Given the description of an element on the screen output the (x, y) to click on. 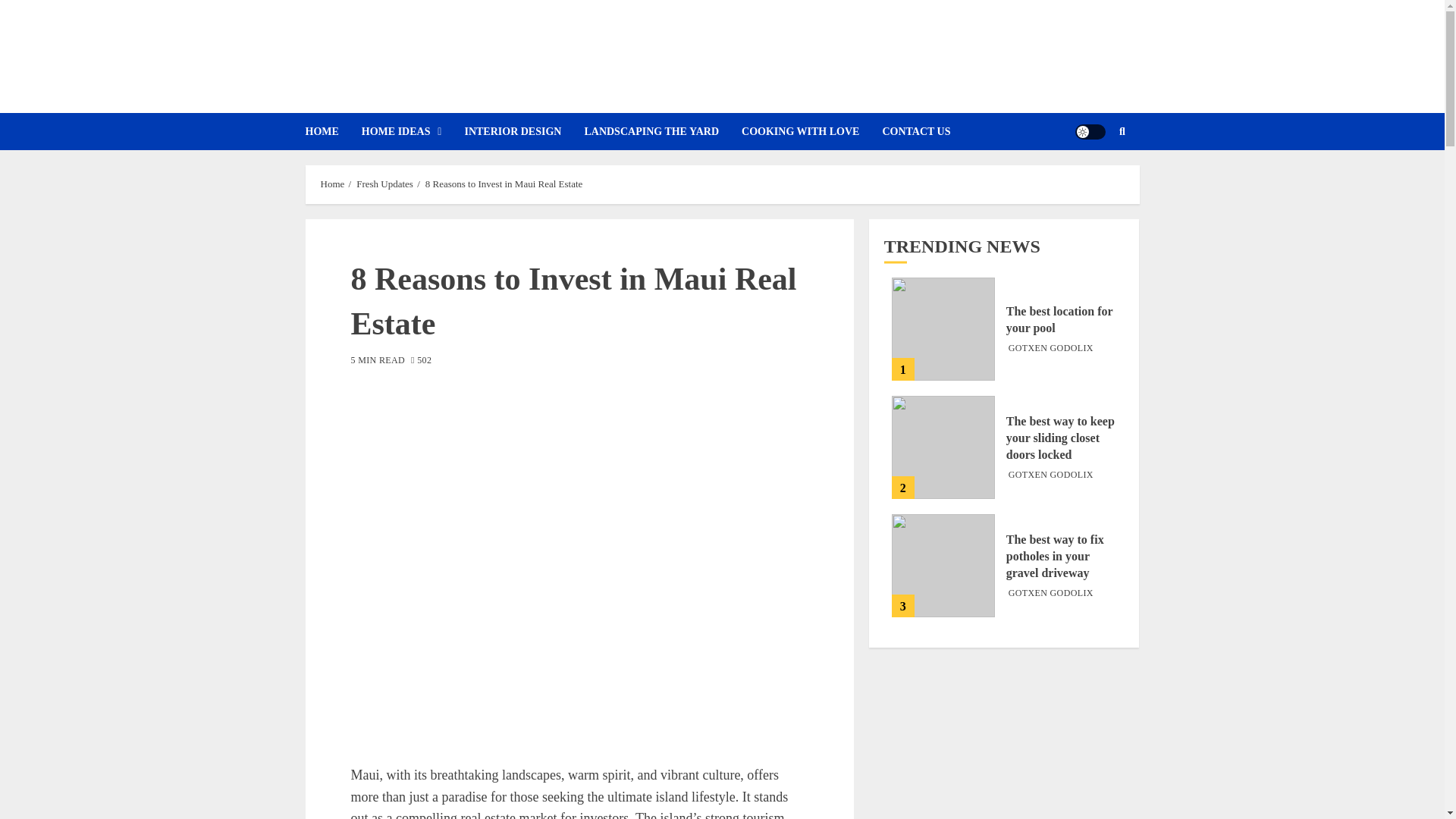
COOKING WITH LOVE (811, 131)
Search (1092, 176)
LANDSCAPING THE YARD (662, 131)
502 (420, 360)
CONTACT US (927, 131)
INTERIOR DESIGN (523, 131)
Home (331, 184)
HOME (332, 131)
HOME IDEAS (412, 131)
8 Reasons to Invest in Maui Real Estate (504, 184)
Fresh Updates (384, 184)
